Given the description of an element on the screen output the (x, y) to click on. 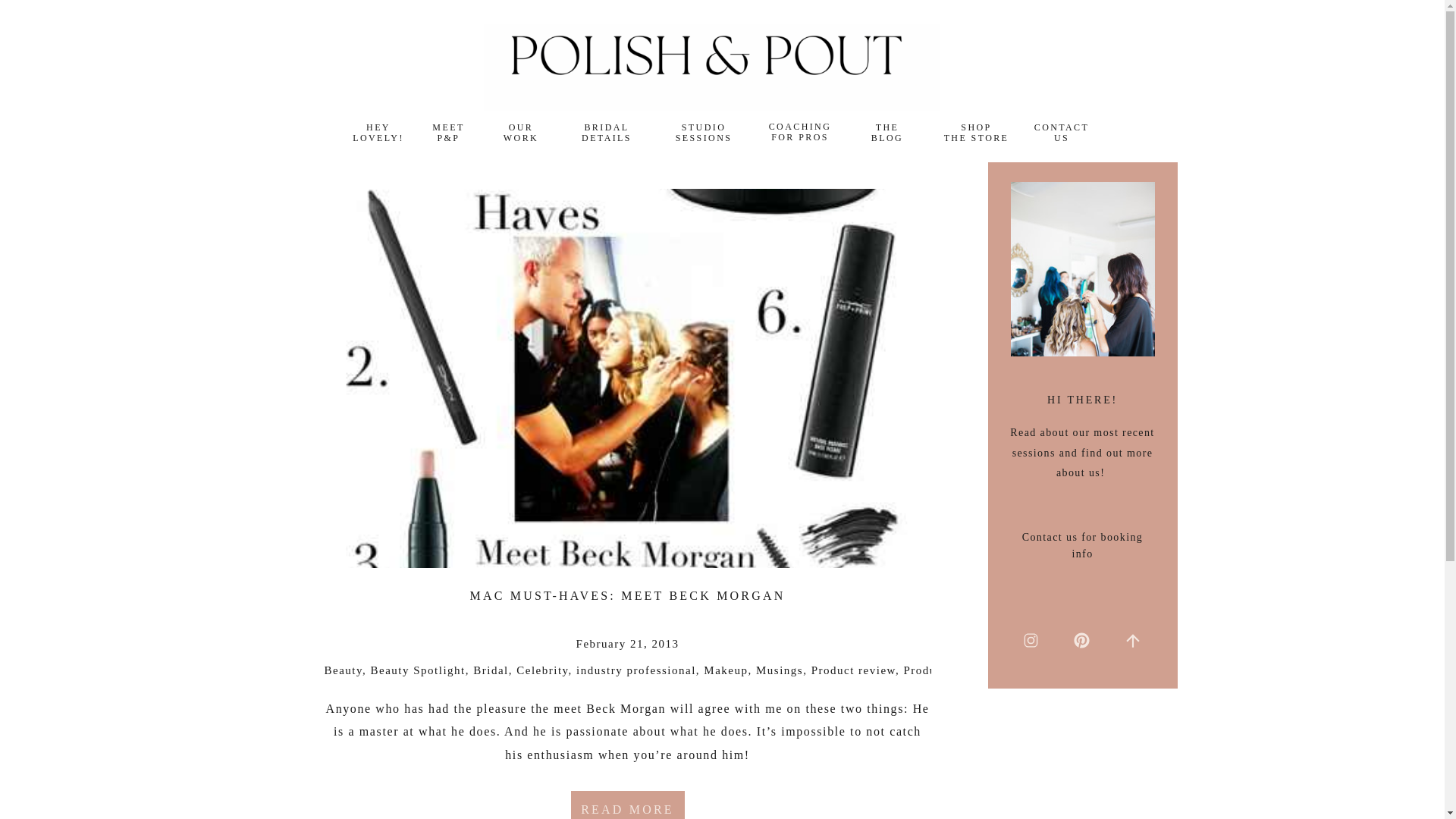
Musings (779, 670)
Makeup (725, 670)
MAC Must-Haves: Meet Beck Morgan (627, 805)
industry professional (635, 670)
CONTACT US (1061, 134)
HEY LOVELY! (379, 133)
Products (927, 670)
COACHING FOR PROS (799, 133)
STUDIO SESSIONS (703, 133)
MAC MUST-HAVES: MEET BECK MORGAN (628, 594)
Beauty Spotlight (606, 134)
Beauty (418, 670)
